Given the description of an element on the screen output the (x, y) to click on. 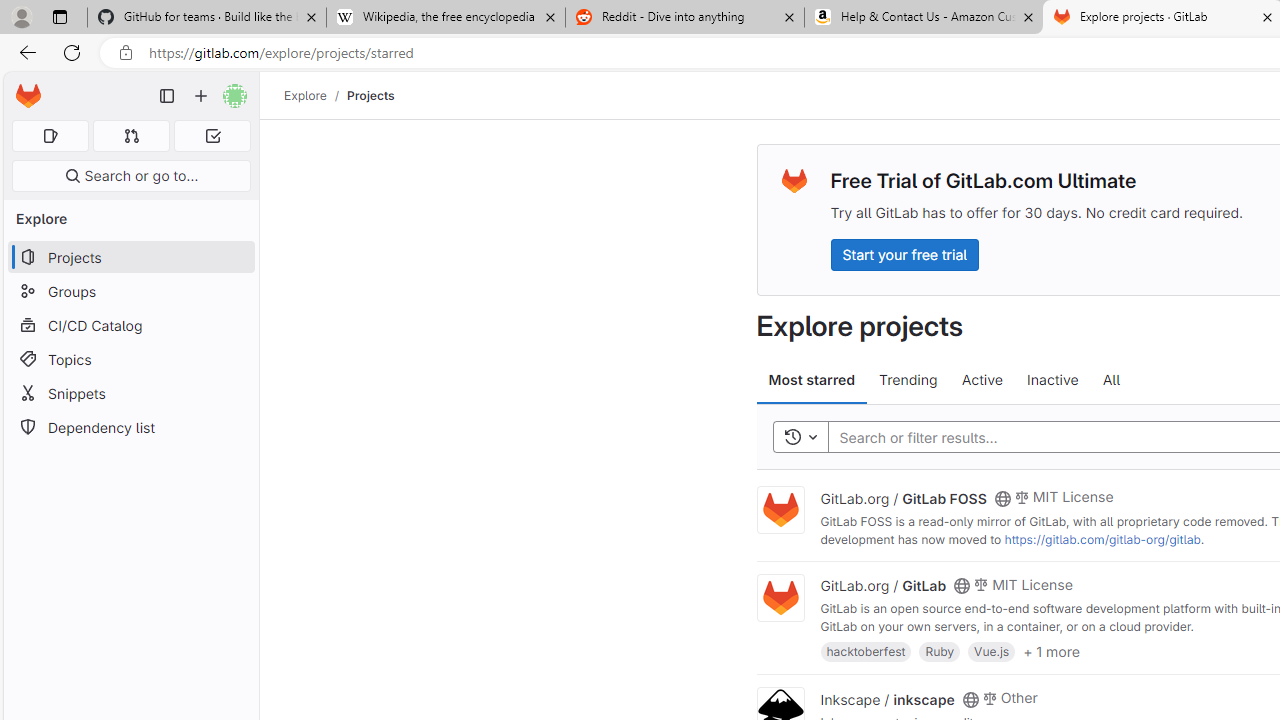
Topics (130, 358)
Vue.js (991, 650)
Groups (130, 291)
All (1111, 379)
Snippets (130, 393)
CI/CD Catalog (130, 325)
Inactive (1052, 379)
Assigned issues 0 (50, 136)
Snippets (130, 393)
Primary navigation sidebar (167, 96)
+ 1 more (1051, 650)
https://gitlab.com/gitlab-org/gitlab (1101, 539)
